Given the description of an element on the screen output the (x, y) to click on. 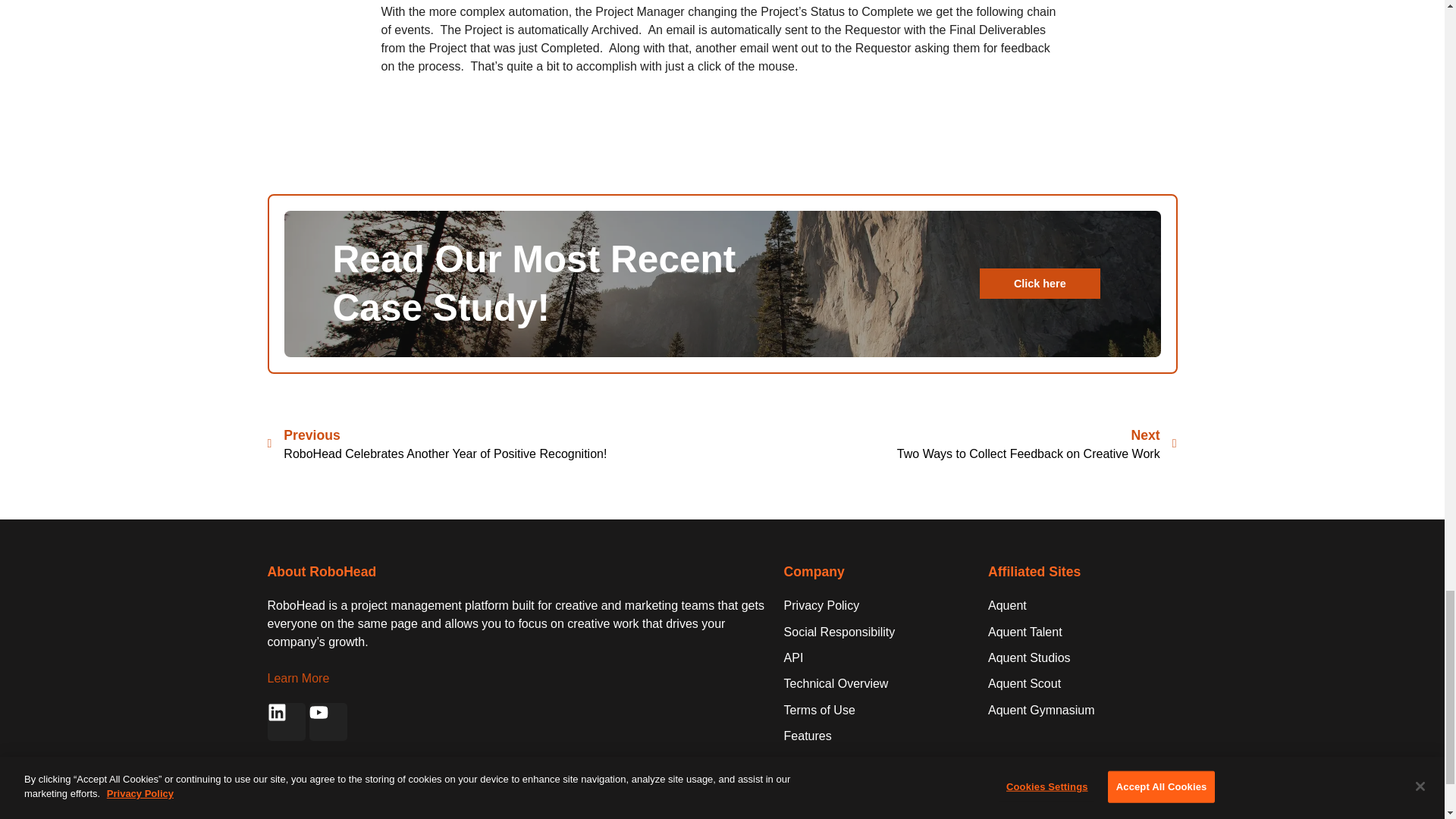
About RoboHead (320, 571)
Learn More (297, 677)
Click here (1039, 283)
